Given the description of an element on the screen output the (x, y) to click on. 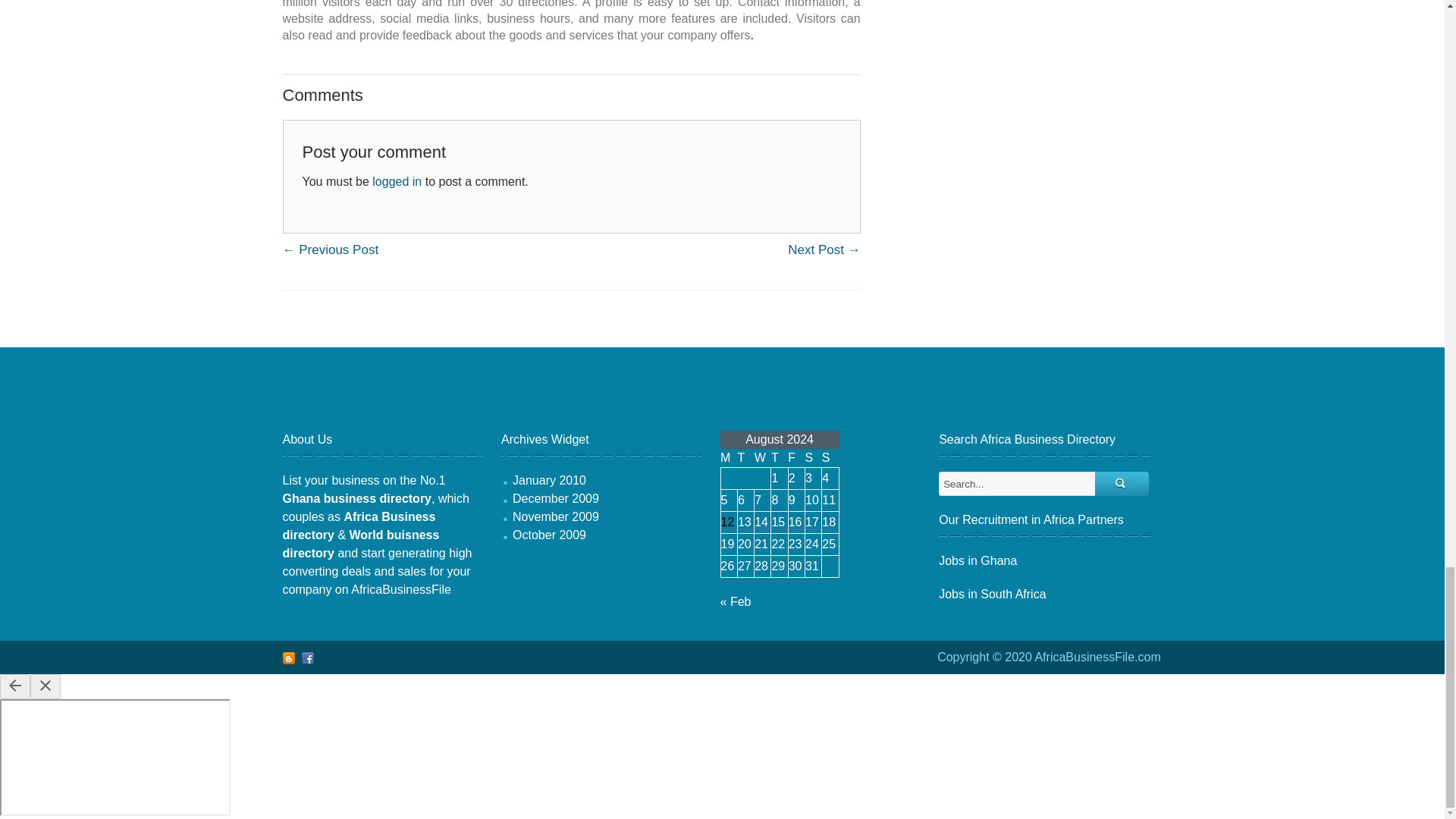
Jobs in South Africa (992, 594)
November 2009 (555, 516)
logged in (397, 181)
Blogger (288, 657)
October 2009 (549, 534)
Jobs in Ghana (977, 560)
Search... (1018, 483)
Search... (1122, 483)
January 2010 (549, 480)
Search... (1122, 483)
